Given the description of an element on the screen output the (x, y) to click on. 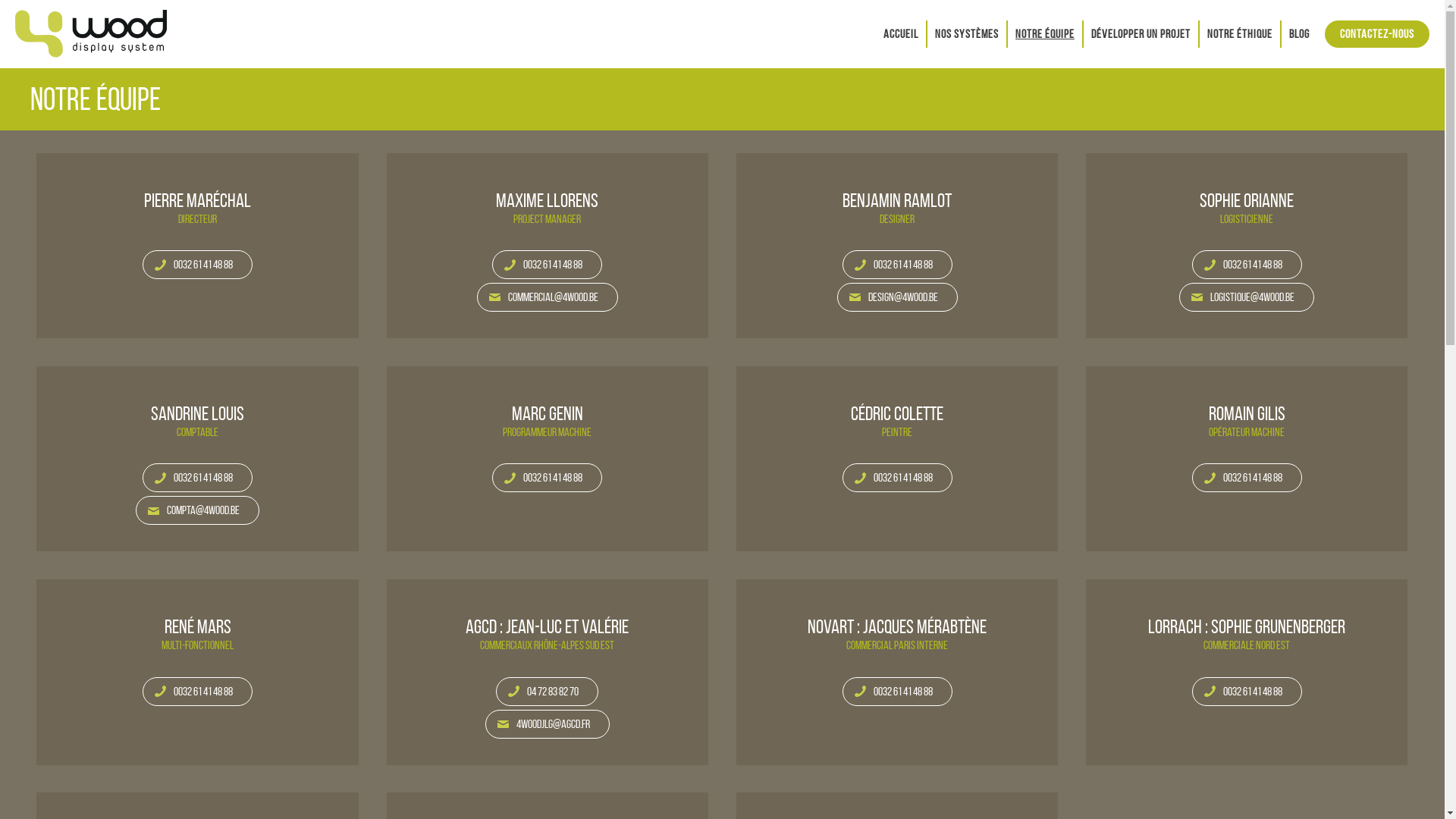
Blog Element type: text (1299, 33)
0032 61 41 48 88 Element type: text (897, 691)
logistique@4wood.be Element type: text (1246, 296)
0032 61 41 48 88 Element type: text (1247, 264)
design@4wood.be Element type: text (897, 296)
Accueil Element type: text (900, 33)
0032 61 41 48 88 Element type: text (1247, 691)
0032 61 41 48 88 Element type: text (197, 477)
0032 61 41 48 88 Element type: text (547, 477)
commercial@4wood.be Element type: text (547, 296)
compta@4wood.be Element type: text (197, 509)
0032 61 41 48 88 Element type: text (197, 264)
04 72 83 82 70 Element type: text (546, 691)
0032 61 41 48 88 Element type: text (197, 691)
Contactez-nous Element type: text (1376, 33)
0032 61 41 48 88 Element type: text (547, 264)
0032 61 41 48 88 Element type: text (1247, 477)
4woodjlg@agcd.fr Element type: text (547, 723)
0032 61 41 48 88 Element type: text (897, 264)
0032 61 41 48 88 Element type: text (897, 477)
